Given the description of an element on the screen output the (x, y) to click on. 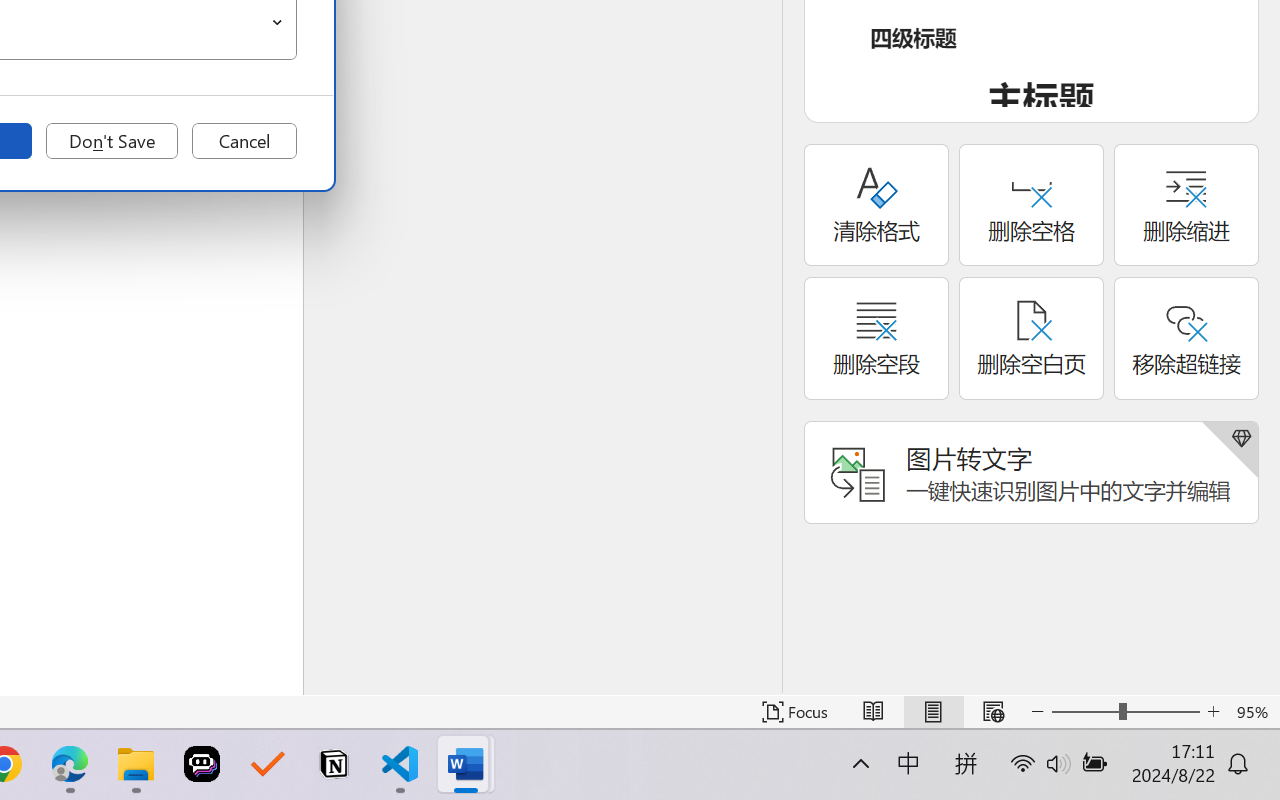
Don't Save (111, 141)
